Given the description of an element on the screen output the (x, y) to click on. 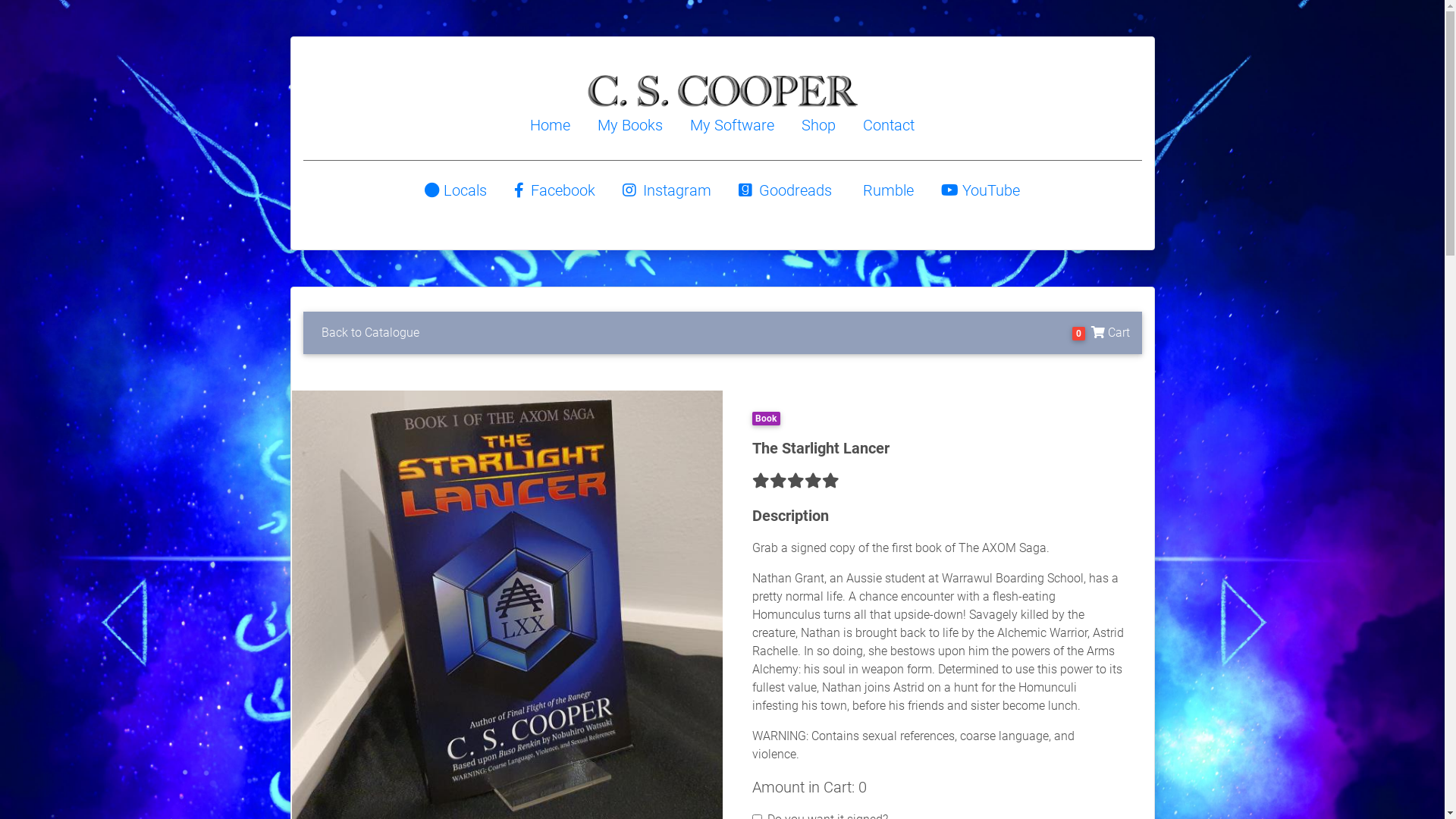
Contact Element type: text (888, 124)
Book Element type: text (768, 417)
Shop Element type: text (818, 124)
YouTube Element type: text (980, 189)
Instagram Element type: text (666, 189)
Facebook Element type: text (554, 189)
My Software Element type: text (731, 124)
Home Element type: text (549, 124)
Goodreads Element type: text (785, 189)
My Books Element type: text (629, 124)
Rumble Element type: text (886, 189)
Back to Catalogue Element type: text (370, 332)
0 Cart Element type: text (1100, 332)
Locals Element type: text (455, 189)
